Given the description of an element on the screen output the (x, y) to click on. 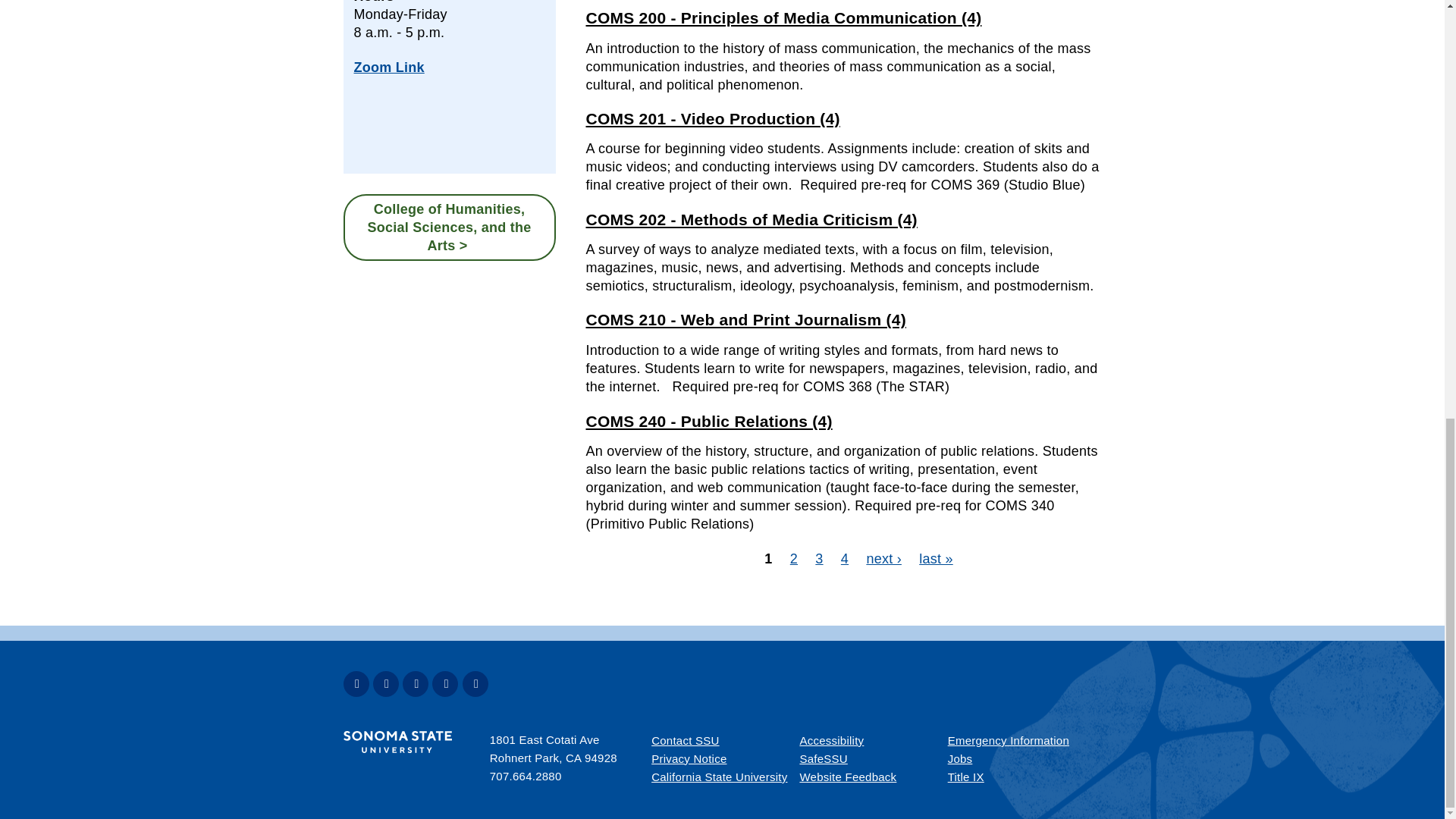
Go to next page (883, 558)
Go to last page (935, 558)
